Given the description of an element on the screen output the (x, y) to click on. 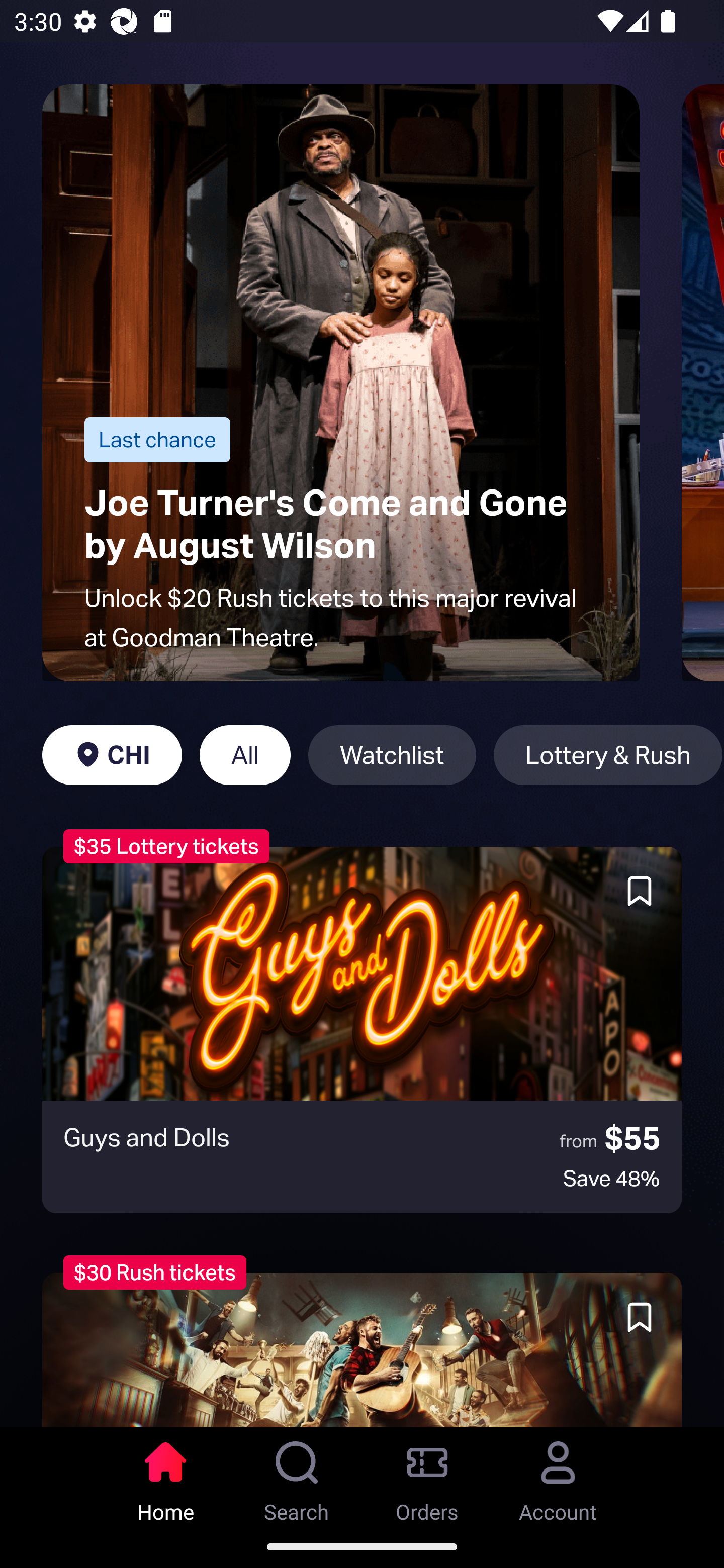
CHI (111, 754)
All (244, 754)
Watchlist (392, 754)
Lottery & Rush (607, 754)
Guys and Dolls from $55 Save 48% (361, 1029)
Search (296, 1475)
Orders (427, 1475)
Account (558, 1475)
